Given the description of an element on the screen output the (x, y) to click on. 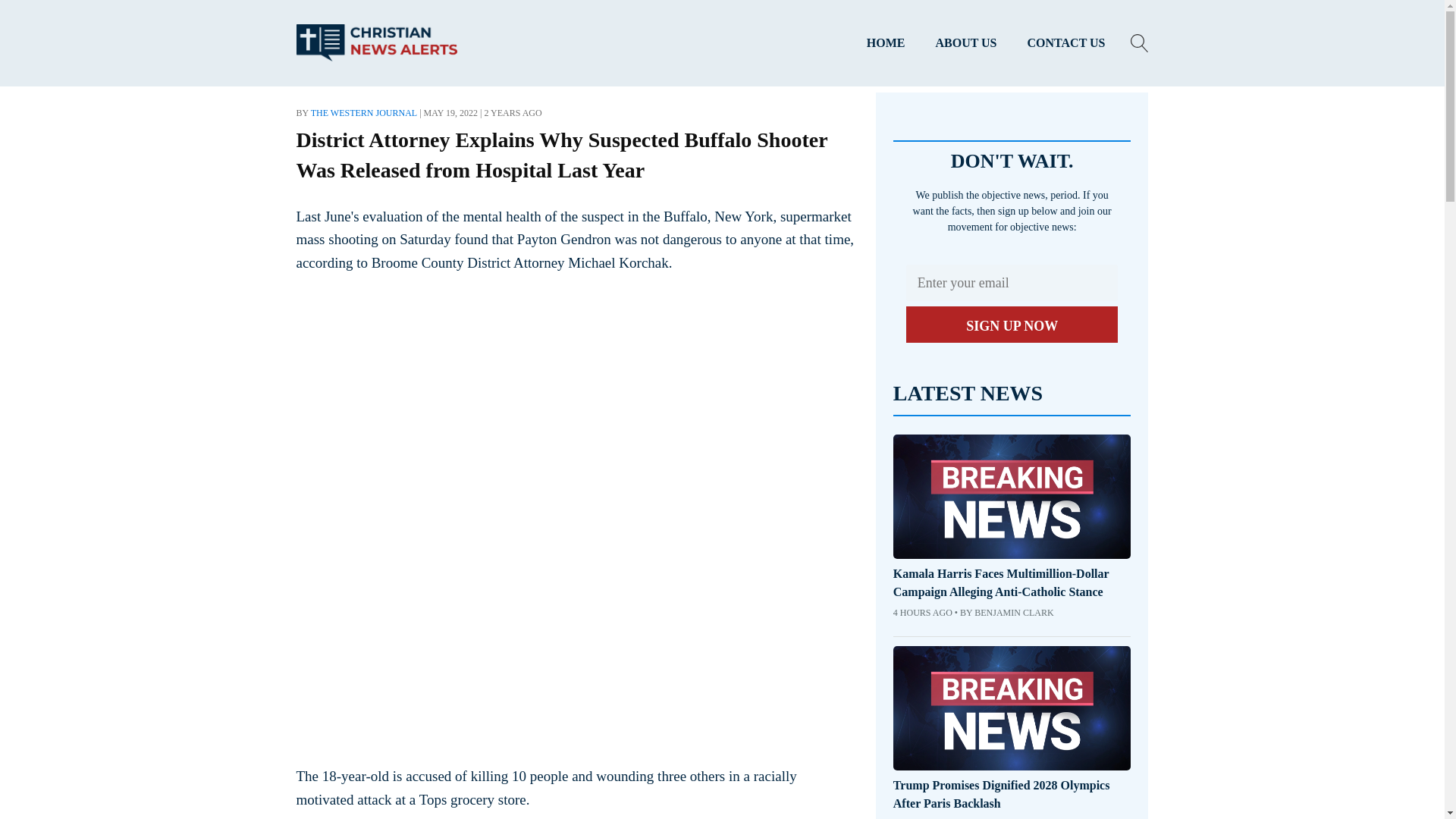
CONTACT US (1066, 43)
SIGN UP NOW (1011, 324)
Trump Promises Dignified 2028 Olympics After Paris Backlash (1012, 794)
THE WESTERN JOURNAL (363, 112)
ABOUT US (965, 43)
SIGN UP NOW (1011, 324)
